Given the description of an element on the screen output the (x, y) to click on. 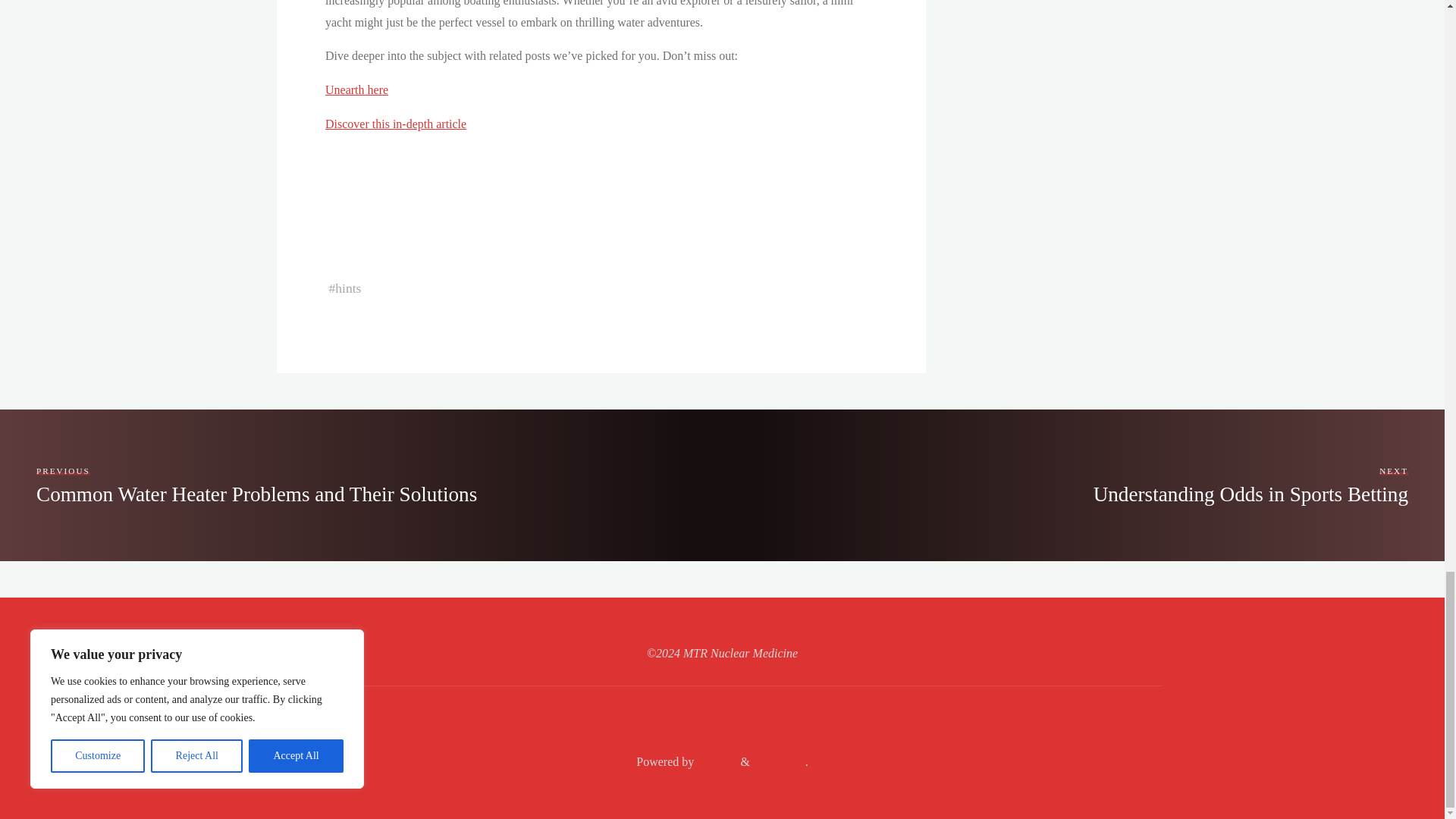
Unearth here (355, 89)
Semantic Personal Publishing Platform (778, 761)
Bravada WordPress Theme by Cryout Creations (715, 761)
hints (347, 287)
Discover this in-depth article (394, 123)
